Given the description of an element on the screen output the (x, y) to click on. 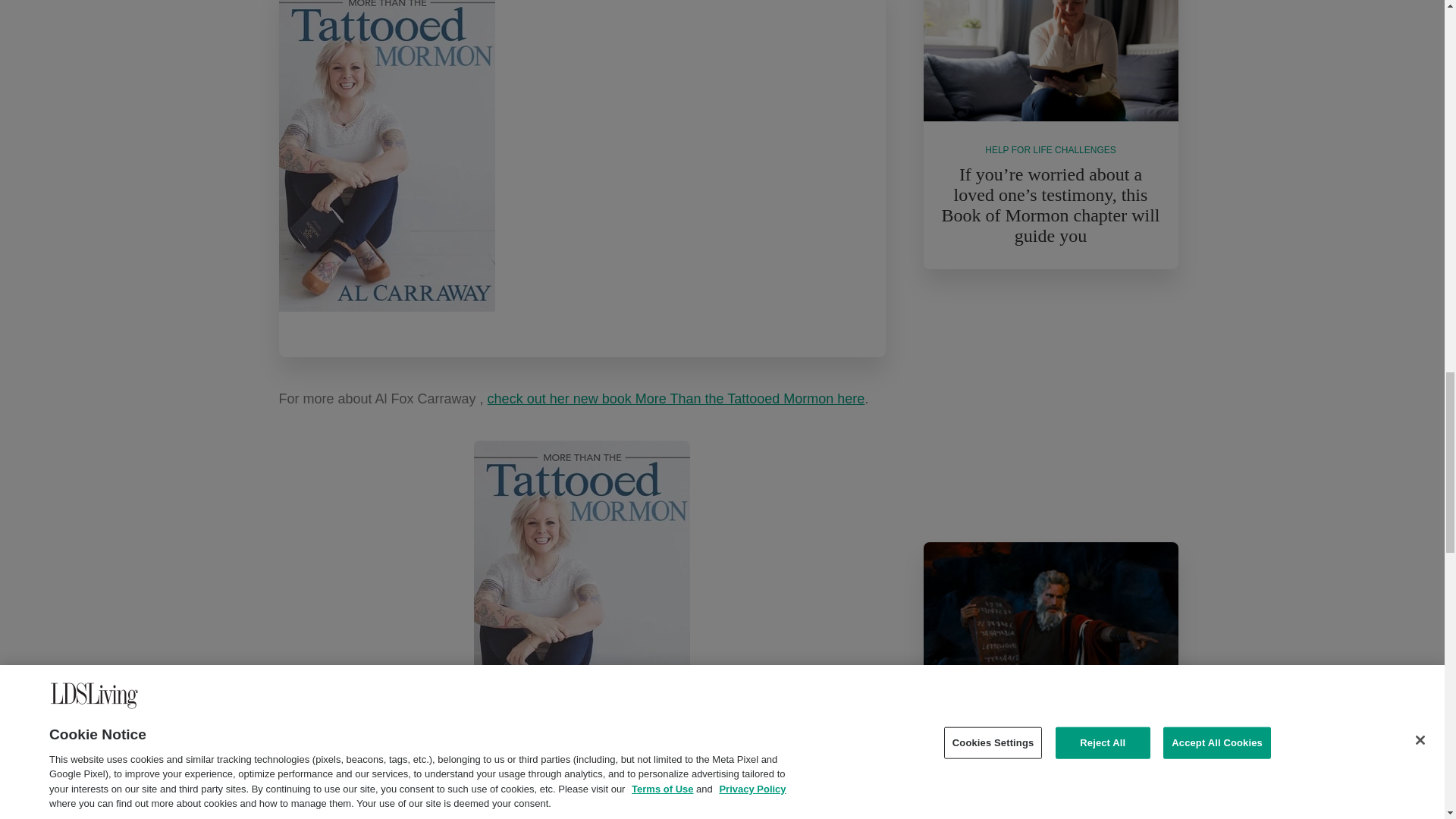
3rd party ad content (1050, 405)
